Given the description of an element on the screen output the (x, y) to click on. 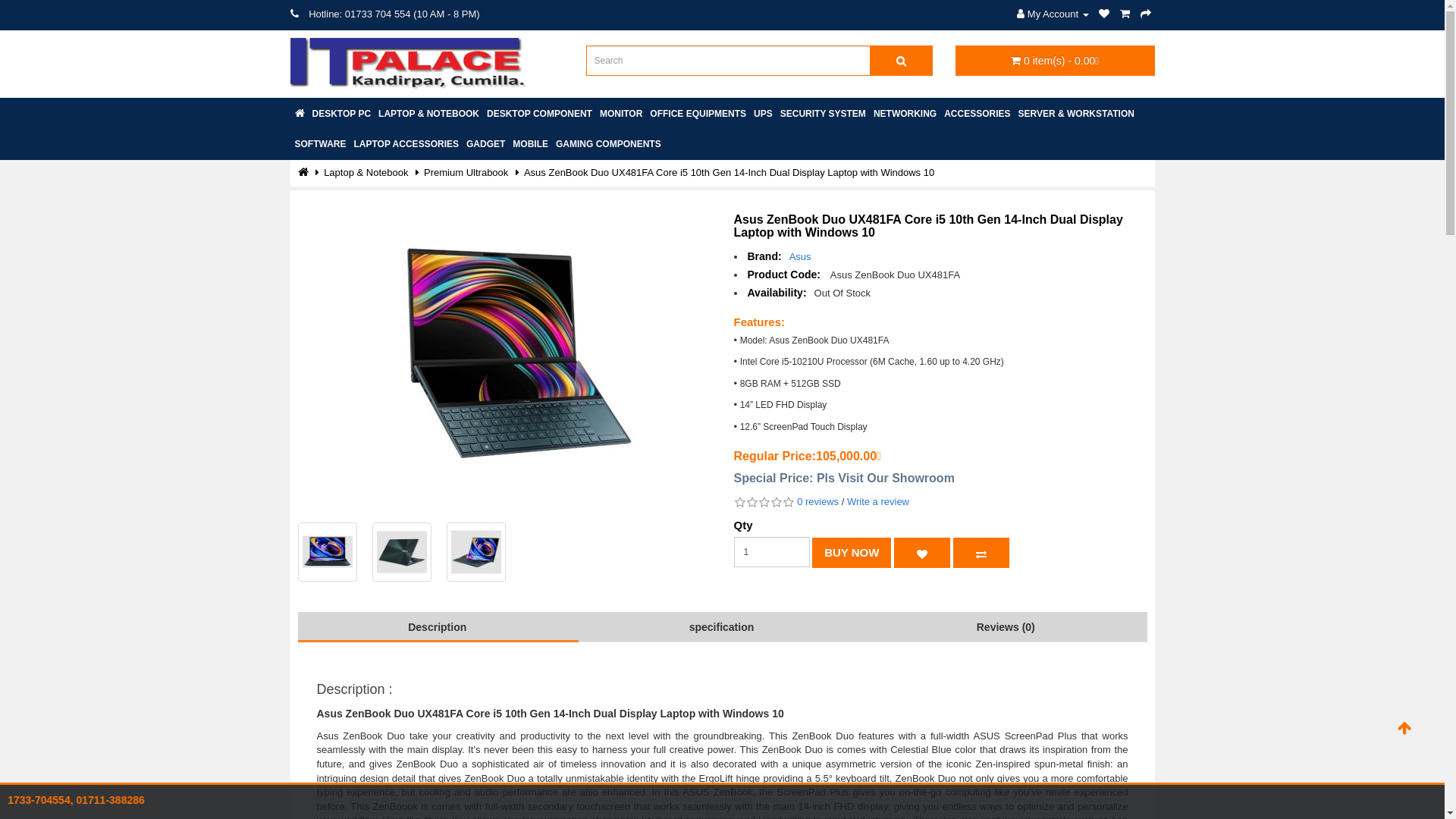
LAPTOP ACCESSORIES Element type: text (406, 143)
0 reviews Element type: text (817, 501)
Go to top Element type: hover (1404, 729)
Wish List (0) Element type: hover (1103, 13)
GAMING COMPONENTS Element type: text (608, 143)
Asus Element type: text (800, 256)
Write a review Element type: text (878, 501)
My Account Element type: text (1052, 13)
MONITOR Element type: text (621, 113)
Description Element type: text (436, 626)
GADGET Element type: text (485, 143)
Premium Ultrabook Element type: text (465, 172)
OFFICE EQUIPMENTS Element type: text (697, 113)
MOBILE Element type: text (530, 143)
IT PALACE Element type: hover (408, 63)
BUY NOW Element type: text (851, 552)
SERVER & WORKSTATION Element type: text (1076, 113)
Reviews (0) Element type: text (1005, 626)
Shopping Cart Element type: hover (1124, 13)
Laptop & Notebook Element type: text (365, 172)
Special Price: Pls Visit Our Showroom Element type: text (848, 478)
specification Element type: text (721, 626)
LAPTOP & NOTEBOOK Element type: text (428, 113)
UPS Element type: text (762, 113)
Checkout Element type: hover (1145, 13)
ACCESSORIES Element type: text (976, 113)
NETWORKING Element type: text (904, 113)
DESKTOP PC Element type: text (340, 113)
DESKTOP COMPONENT Element type: text (539, 113)
SOFTWARE Element type: text (320, 143)
SECURITY SYSTEM Element type: text (822, 113)
